Given the description of an element on the screen output the (x, y) to click on. 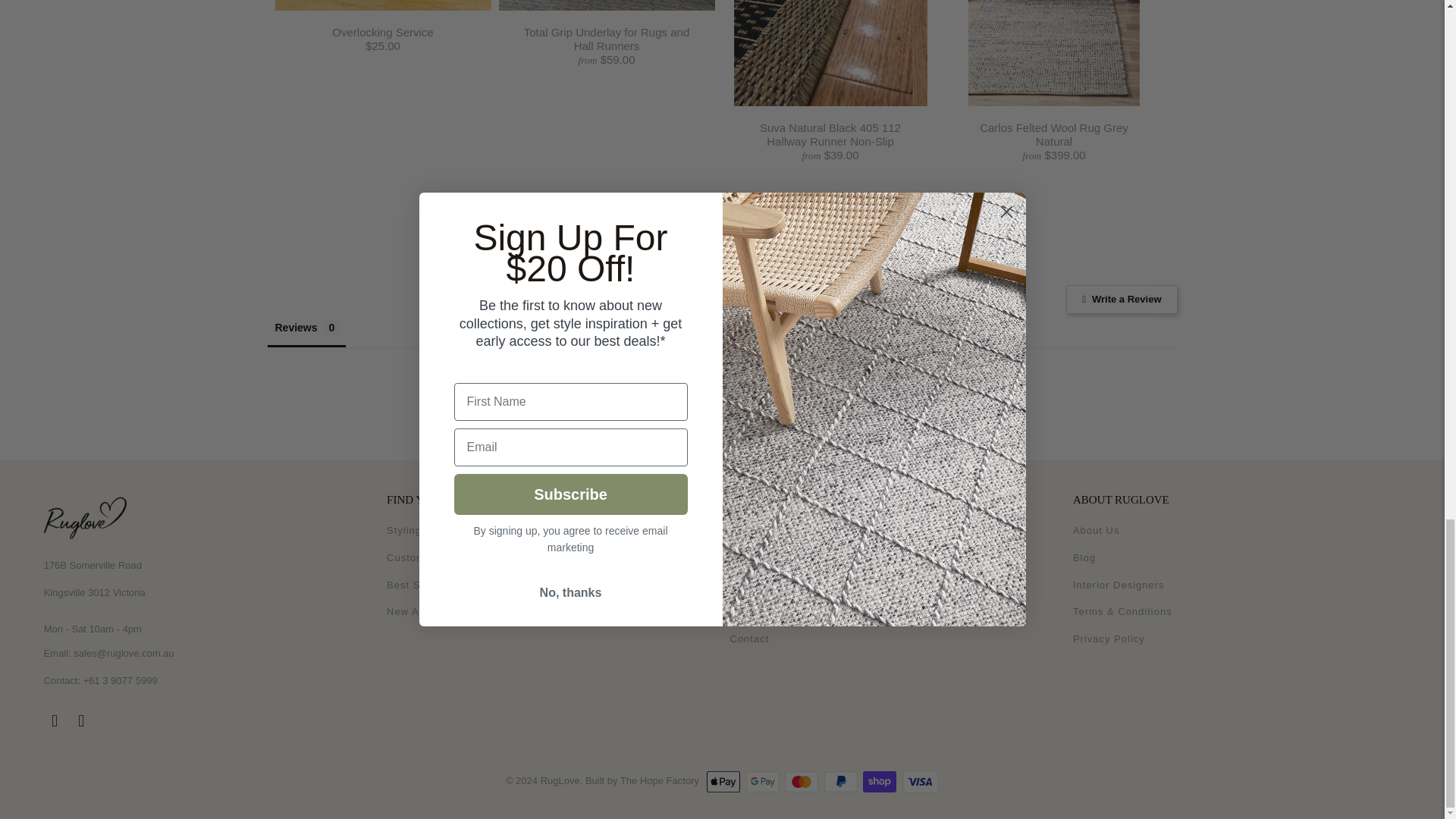
RugLove on Facebook (54, 720)
Apple Pay (724, 781)
PayPal (842, 781)
Google Pay (764, 781)
RugLove on Instagram (81, 720)
Shop Pay (881, 781)
Visa (920, 781)
Mastercard (802, 781)
